Given the description of an element on the screen output the (x, y) to click on. 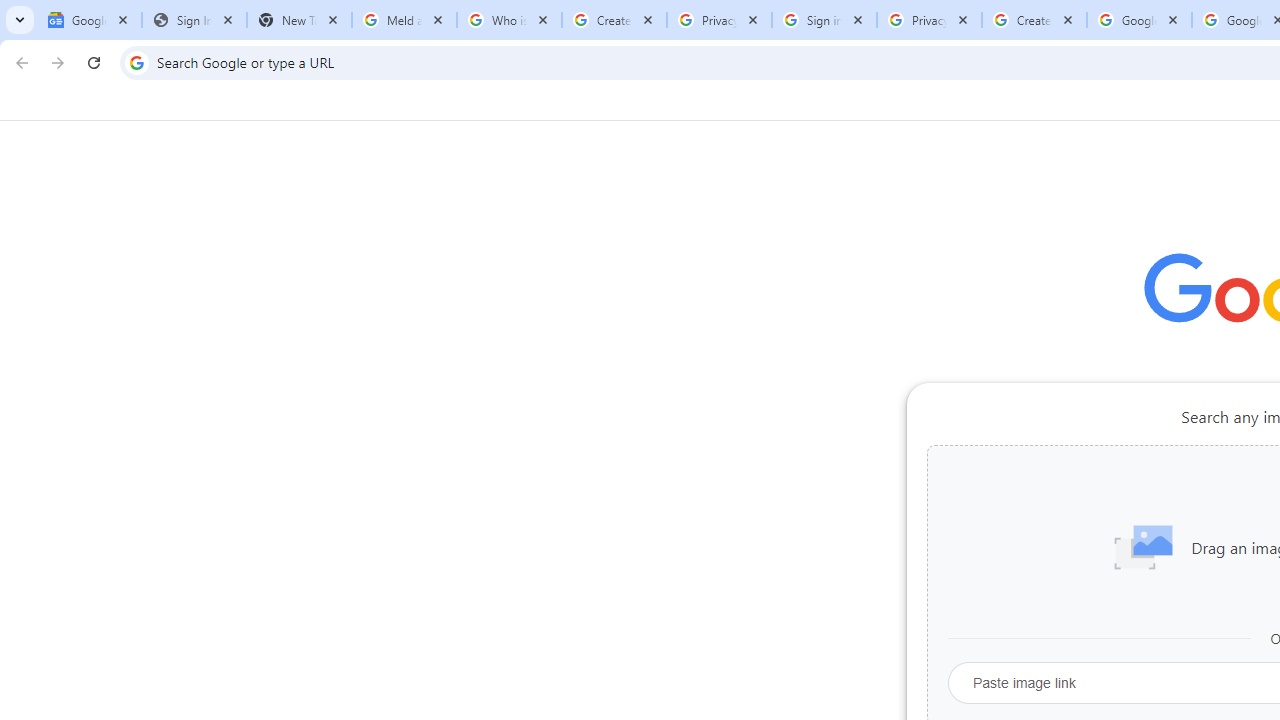
More actions for Chrome Web Store shortcut (1208, 466)
Create your Google Account (1033, 20)
More actions for Sign in shortcut (1095, 466)
Sign in - Google Accounts (823, 20)
Chrome Web Store (1167, 504)
New Tab (299, 20)
Google News (89, 20)
